Given the description of an element on the screen output the (x, y) to click on. 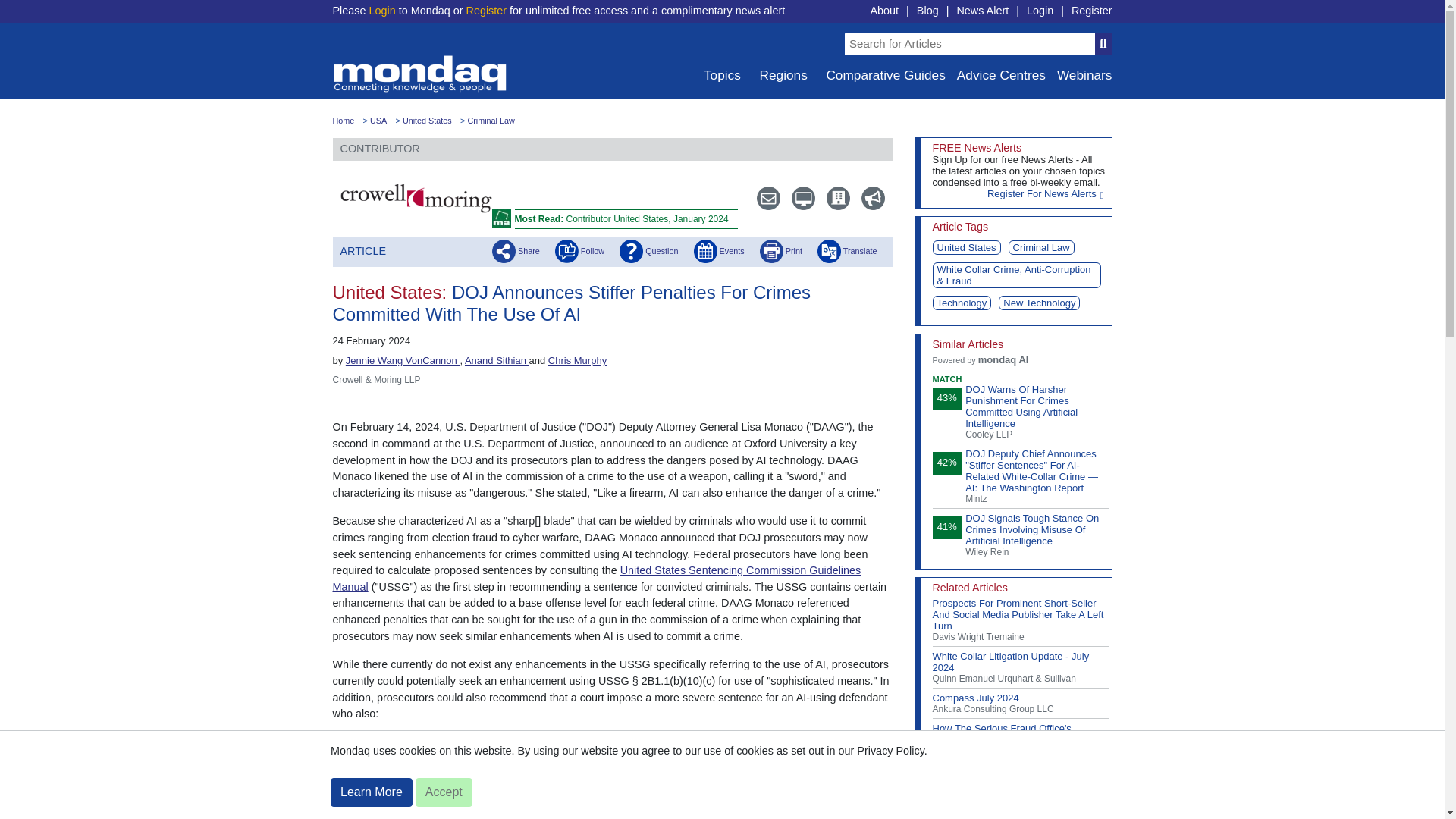
Topics   (720, 75)
View this authors biography on their website (496, 360)
View this authors biography on their website (403, 360)
Filter only by Criminal Law (490, 120)
Register (485, 10)
News Alert (982, 10)
Blog (928, 10)
View this authors biography on their website (577, 360)
Register (1091, 10)
Login (1039, 10)
About (883, 10)
Login (381, 10)
